Given the description of an element on the screen output the (x, y) to click on. 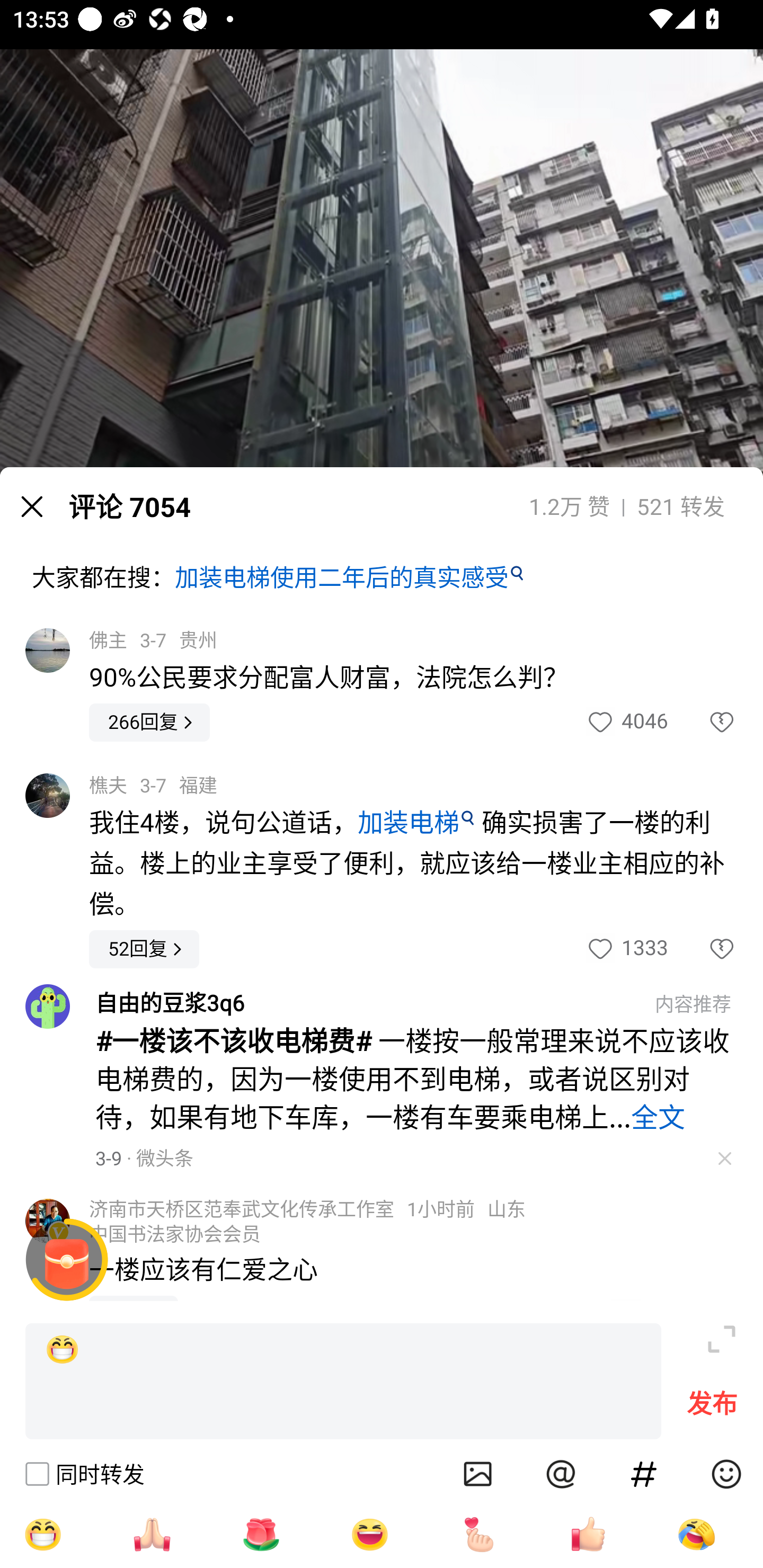
[呲牙] (343, 1381)
全屏编辑 (721, 1338)
发布 (711, 1407)
同时转发 (83, 1473)
相册 (478, 1473)
at (560, 1473)
话题 (643, 1473)
表情 (726, 1473)
[呲牙] (42, 1534)
[祈祷] (152, 1534)
[玫瑰] (261, 1534)
[大笑] (369, 1534)
[比心] (478, 1534)
[赞] (588, 1534)
[捂脸] (696, 1534)
